Given the description of an element on the screen output the (x, y) to click on. 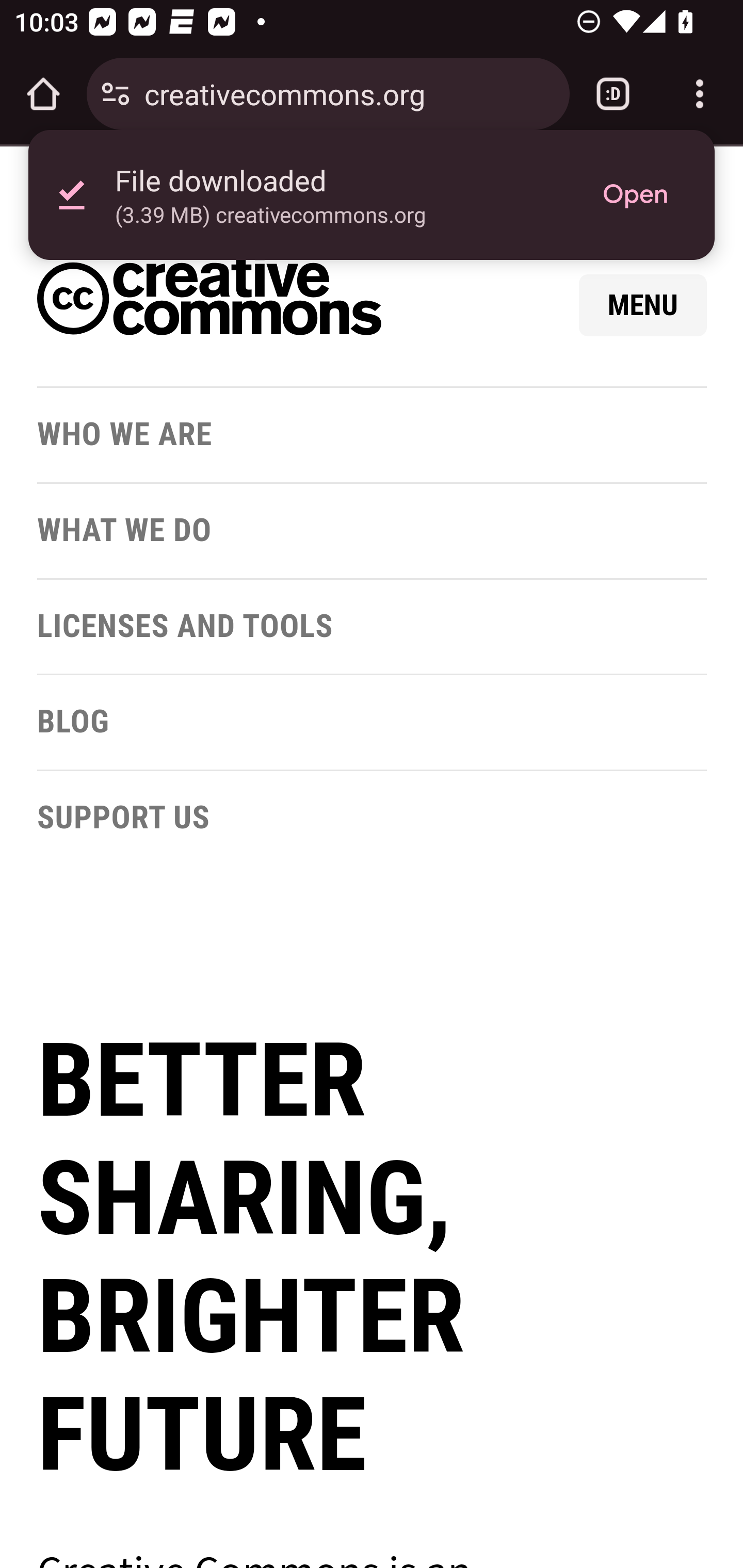
Open the home page (43, 93)
Connection is secure (115, 93)
Switch or close tabs (612, 93)
Customize and control Google Chrome (699, 93)
creativecommons.org (349, 92)
Open (634, 195)
